Given the description of an element on the screen output the (x, y) to click on. 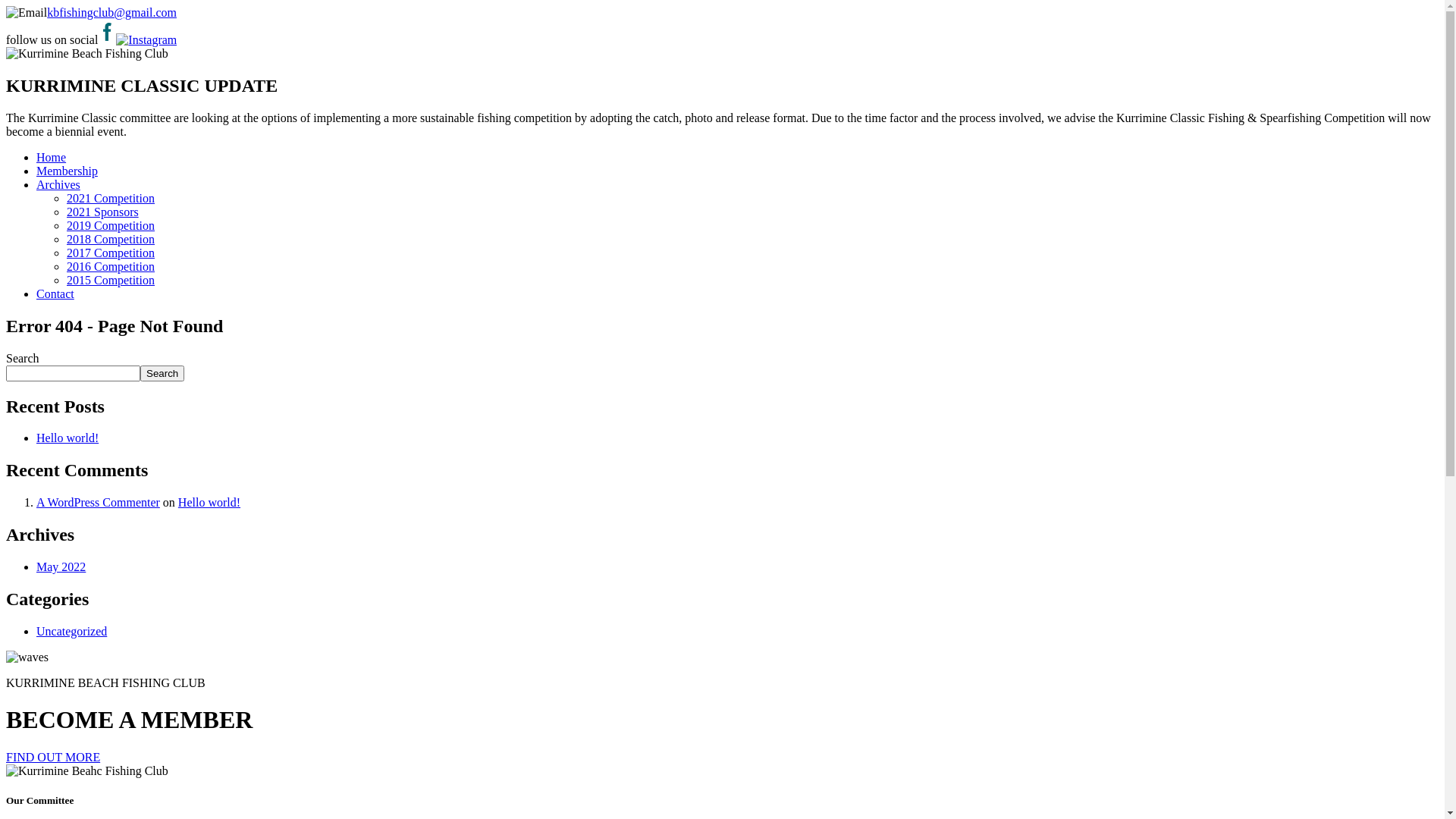
2019 Competition Element type: text (110, 225)
2021 Competition Element type: text (110, 197)
2016 Competition Element type: text (110, 266)
Contact Element type: text (55, 293)
2021 Sponsors Element type: text (102, 211)
Home Element type: text (50, 156)
Hello world! Element type: text (209, 501)
May 2022 Element type: text (60, 566)
2018 Competition Element type: text (110, 238)
A WordPress Commenter Element type: text (98, 501)
Membership Element type: text (66, 170)
Uncategorized Element type: text (71, 630)
Archives Element type: text (58, 184)
2015 Competition Element type: text (110, 279)
Hello world! Element type: text (67, 437)
kbfishingclub@gmail.com Element type: text (111, 12)
2017 Competition Element type: text (110, 252)
FIND OUT MORE Element type: text (722, 757)
Search Element type: text (162, 373)
